Given the description of an element on the screen output the (x, y) to click on. 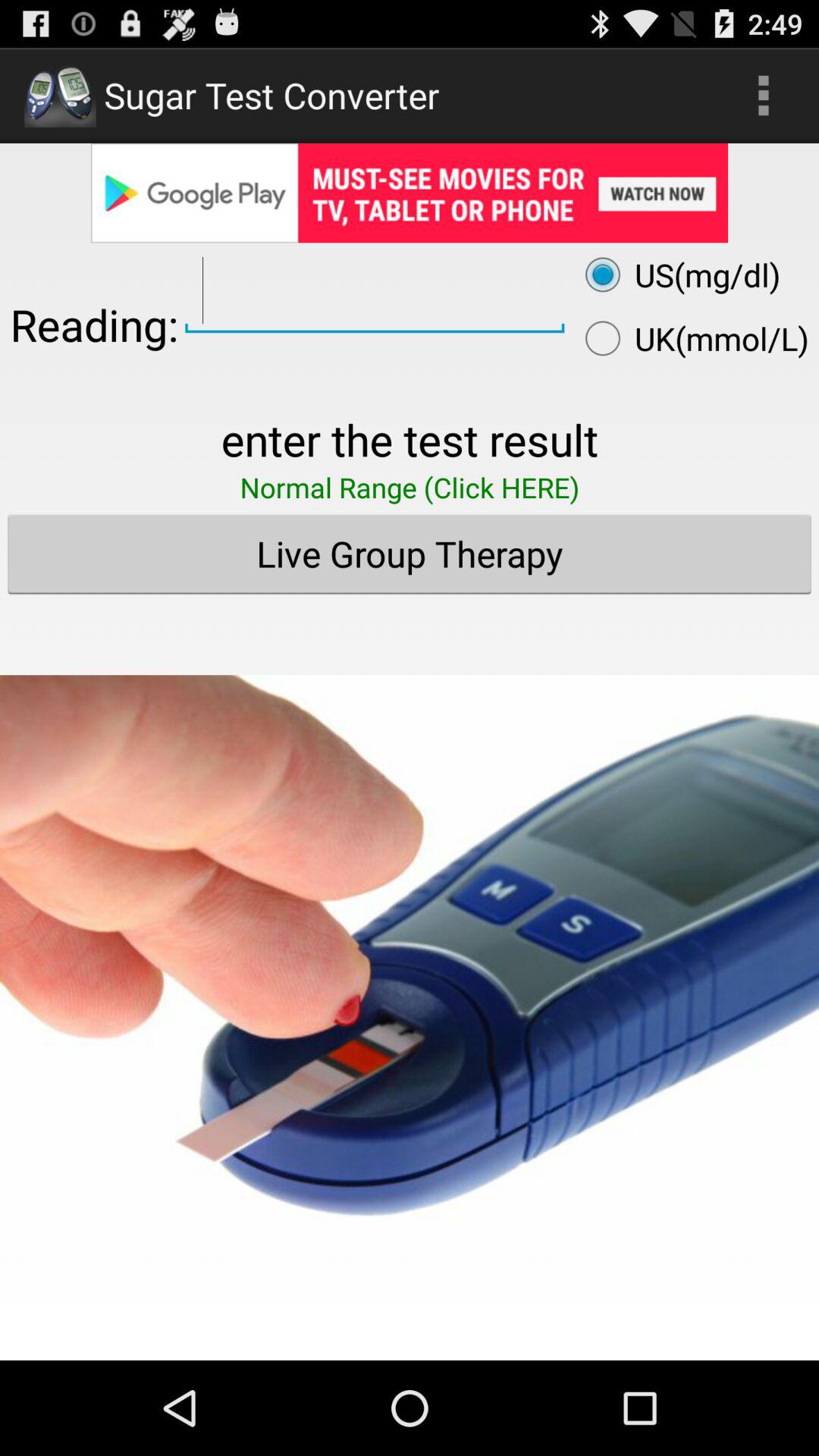
enter values (374, 290)
